Given the description of an element on the screen output the (x, y) to click on. 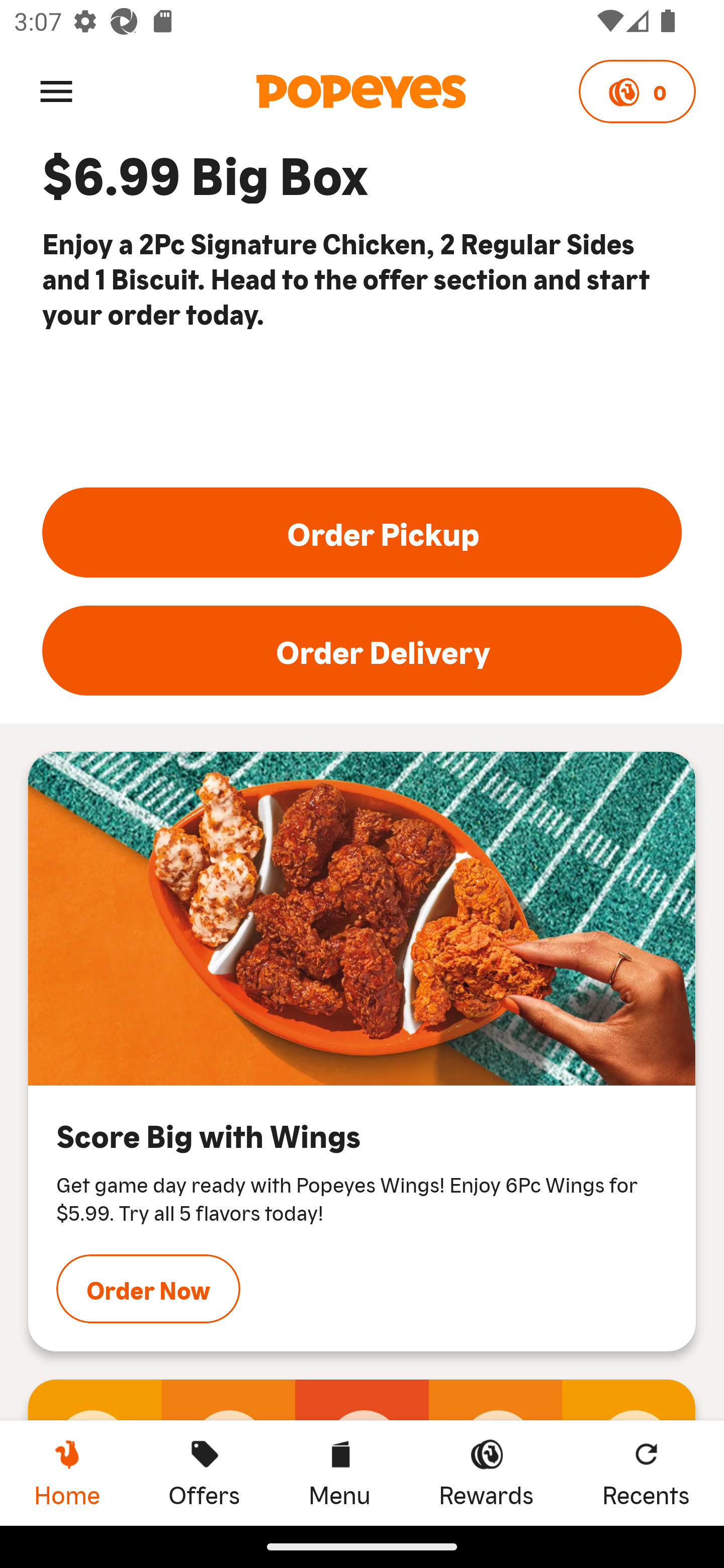
Menu  (56, 90)
0 Points 0 (636, 91)
Order Pickup (361, 532)
Order Delivery (361, 650)
Score Big with Wings (361, 918)
Order Now (148, 1288)
Home, current page Home Home, current page (66, 1472)
Offers Offers Offers (203, 1472)
Menu Menu Menu (339, 1472)
Rewards Rewards Rewards (486, 1472)
Recents Recents Recents (646, 1472)
